Given the description of an element on the screen output the (x, y) to click on. 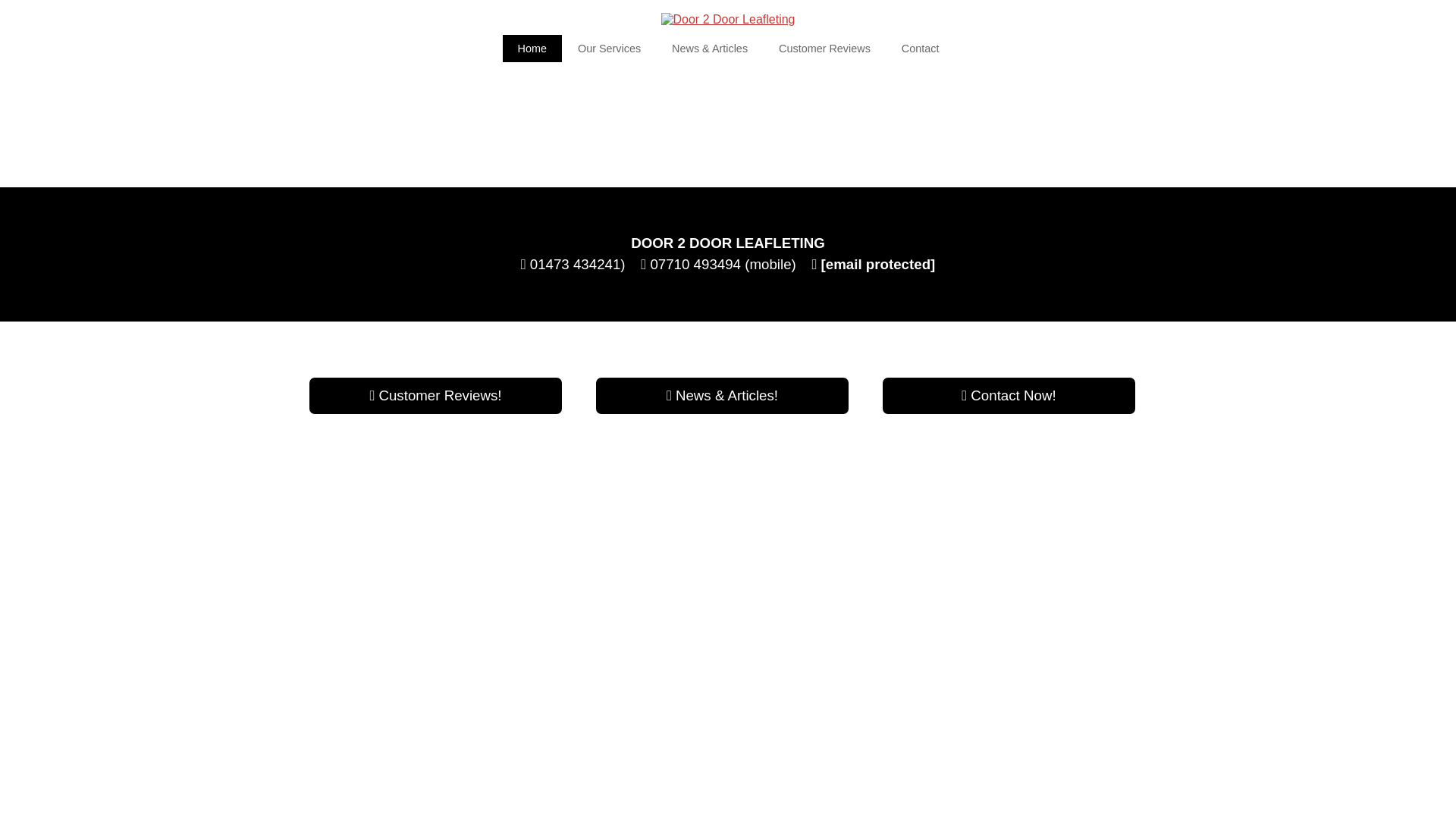
Our Services (609, 48)
Contact (920, 48)
Customer Reviews (823, 48)
Customer Reviews! (435, 395)
Home (532, 48)
Contact Now! (1008, 395)
